Given the description of an element on the screen output the (x, y) to click on. 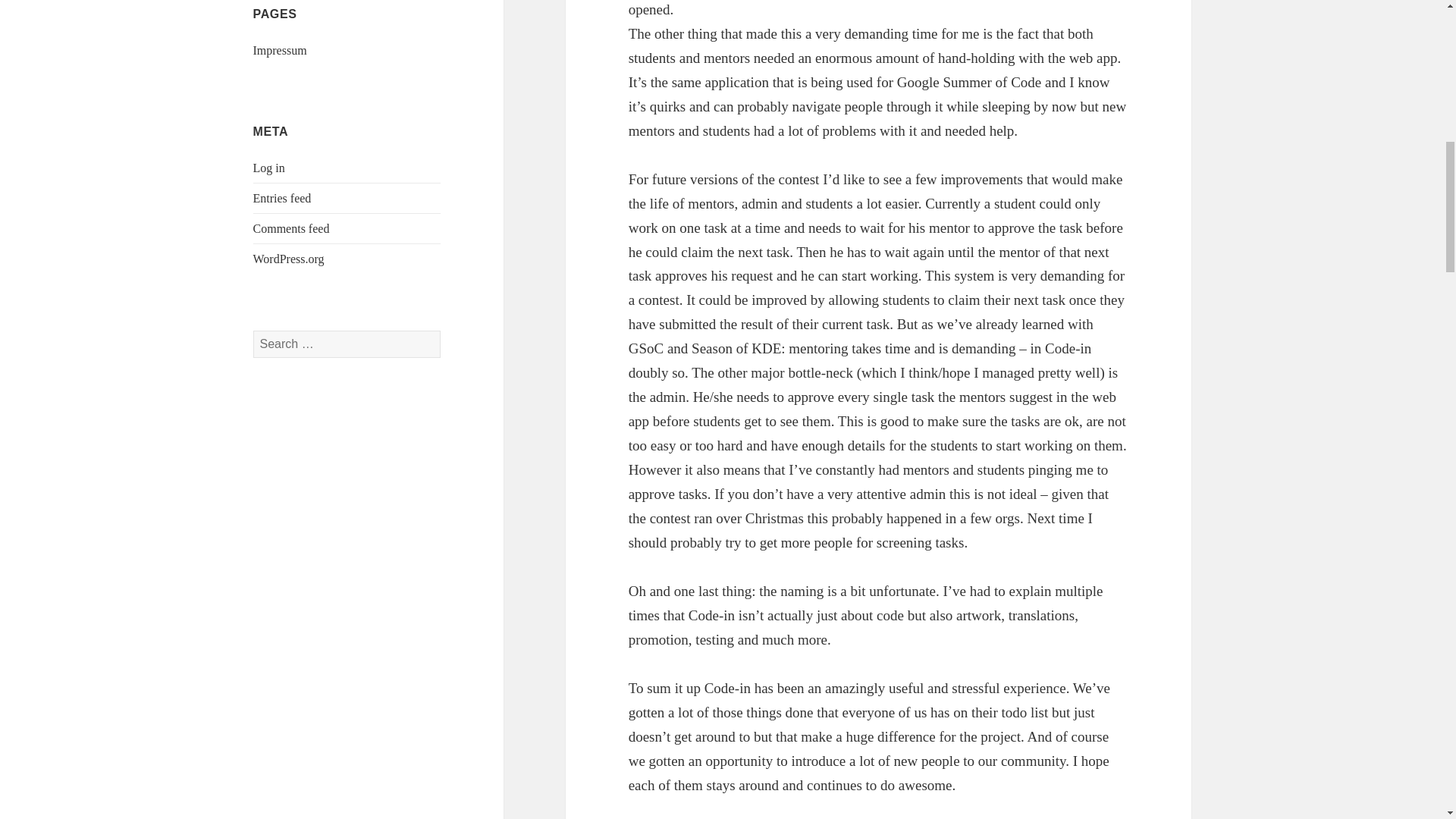
Impressum (280, 50)
Entries feed (282, 197)
WordPress.org (288, 258)
Log in (269, 167)
Comments feed (291, 228)
